Given the description of an element on the screen output the (x, y) to click on. 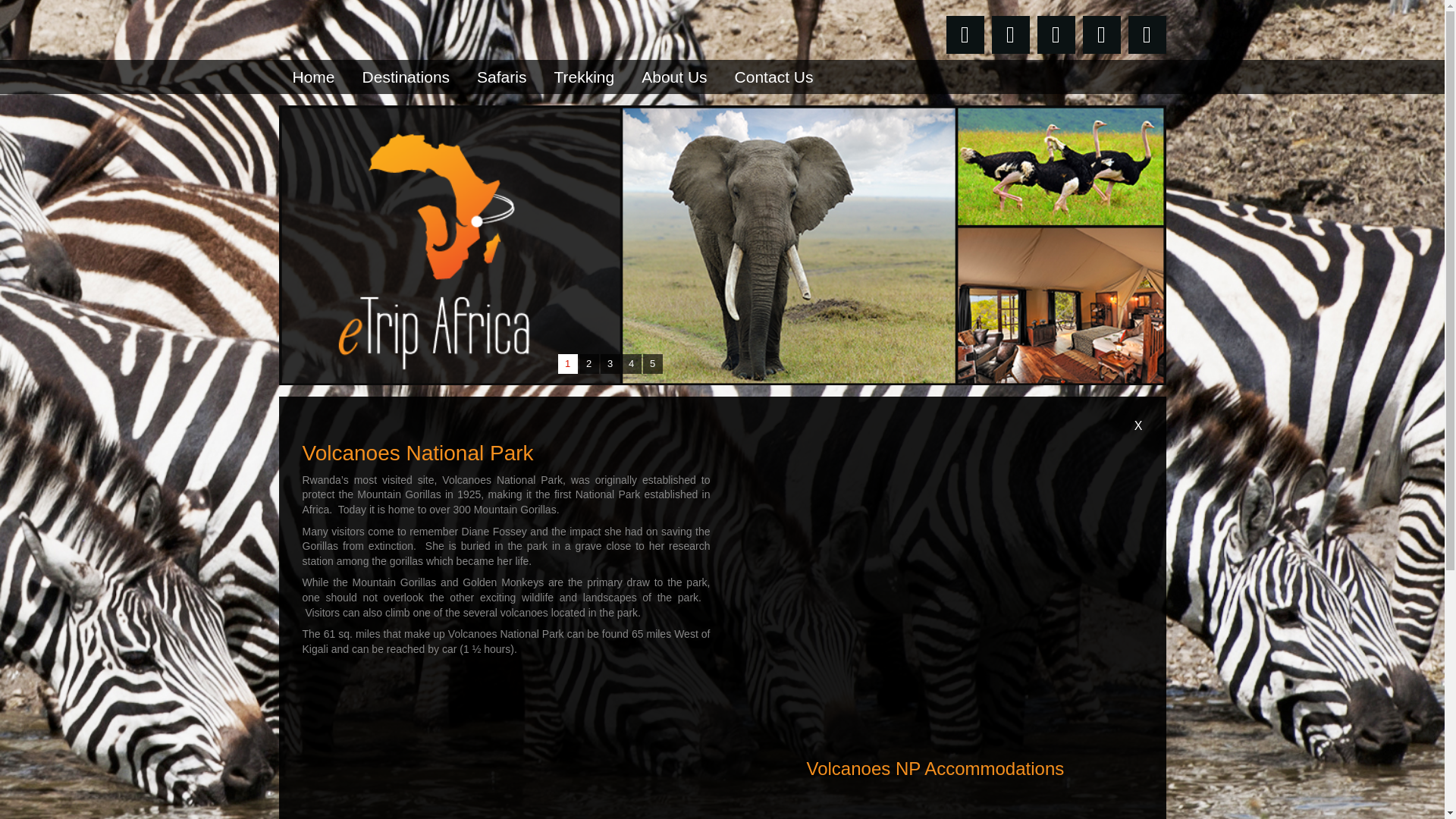
Safaris (501, 76)
Home (314, 76)
1 (567, 363)
Trekking (583, 76)
Contact Us (773, 76)
About Us (673, 76)
Destinations (406, 76)
3 (609, 363)
2 (588, 363)
